Given the description of an element on the screen output the (x, y) to click on. 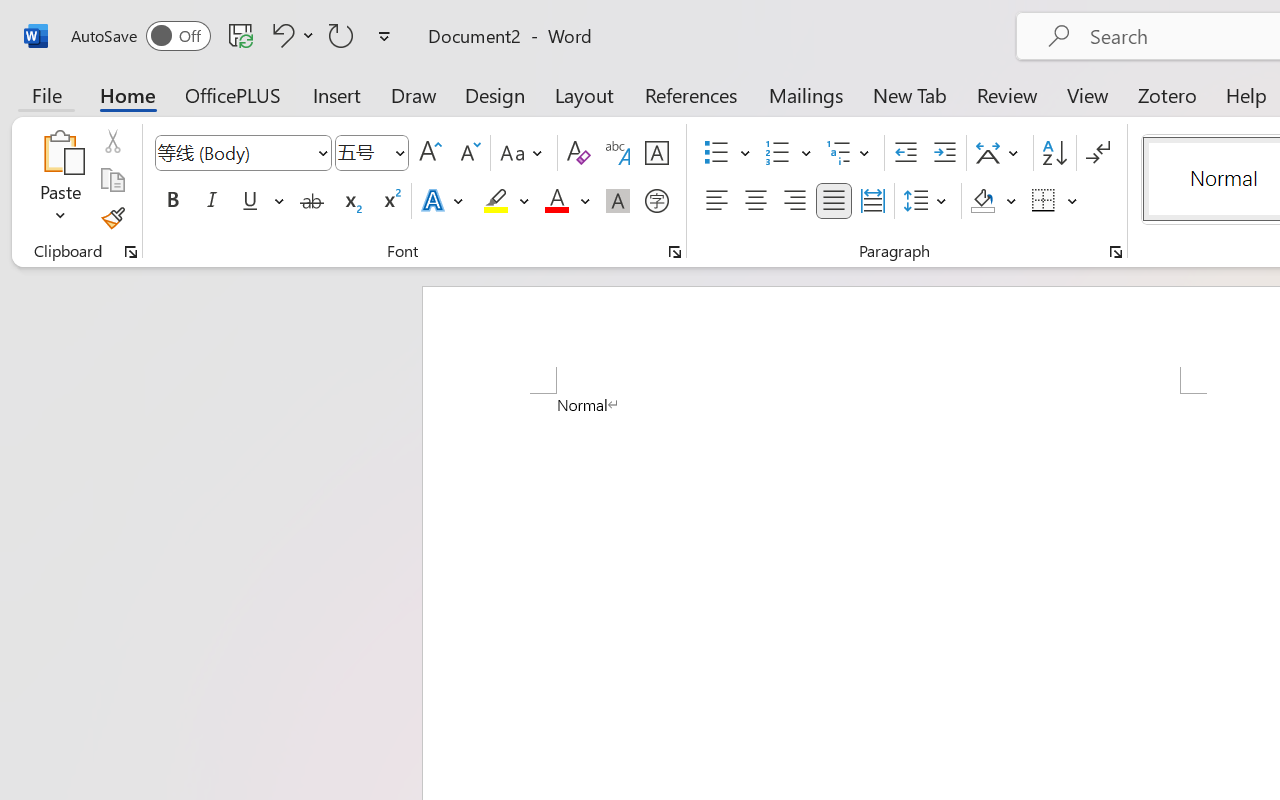
Cut (112, 141)
Paste (60, 179)
Office Clipboard... (131, 252)
Increase Indent (944, 153)
Distributed (872, 201)
Bullets (727, 153)
Character Border (656, 153)
Customize Quick Access Toolbar (384, 35)
Align Left (716, 201)
Strikethrough (312, 201)
Save (241, 35)
Font Size (362, 152)
More Options (1073, 201)
Copy (112, 179)
